Given the description of an element on the screen output the (x, y) to click on. 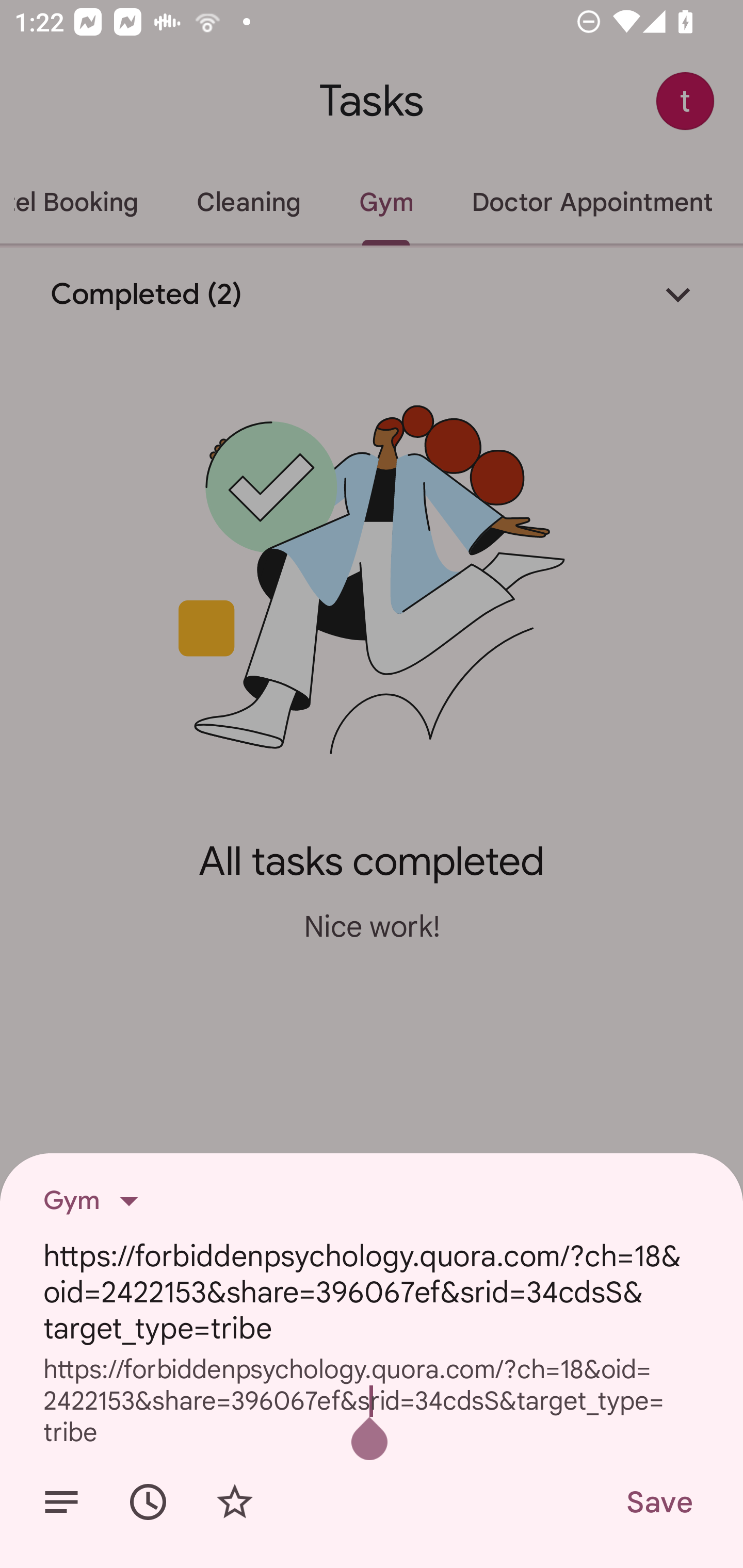
Gym List, Gym selected, 1 of 6 (96, 1201)
Save (659, 1501)
Add details (60, 1501)
Set date/time (147, 1501)
Add star (234, 1501)
